Given the description of an element on the screen output the (x, y) to click on. 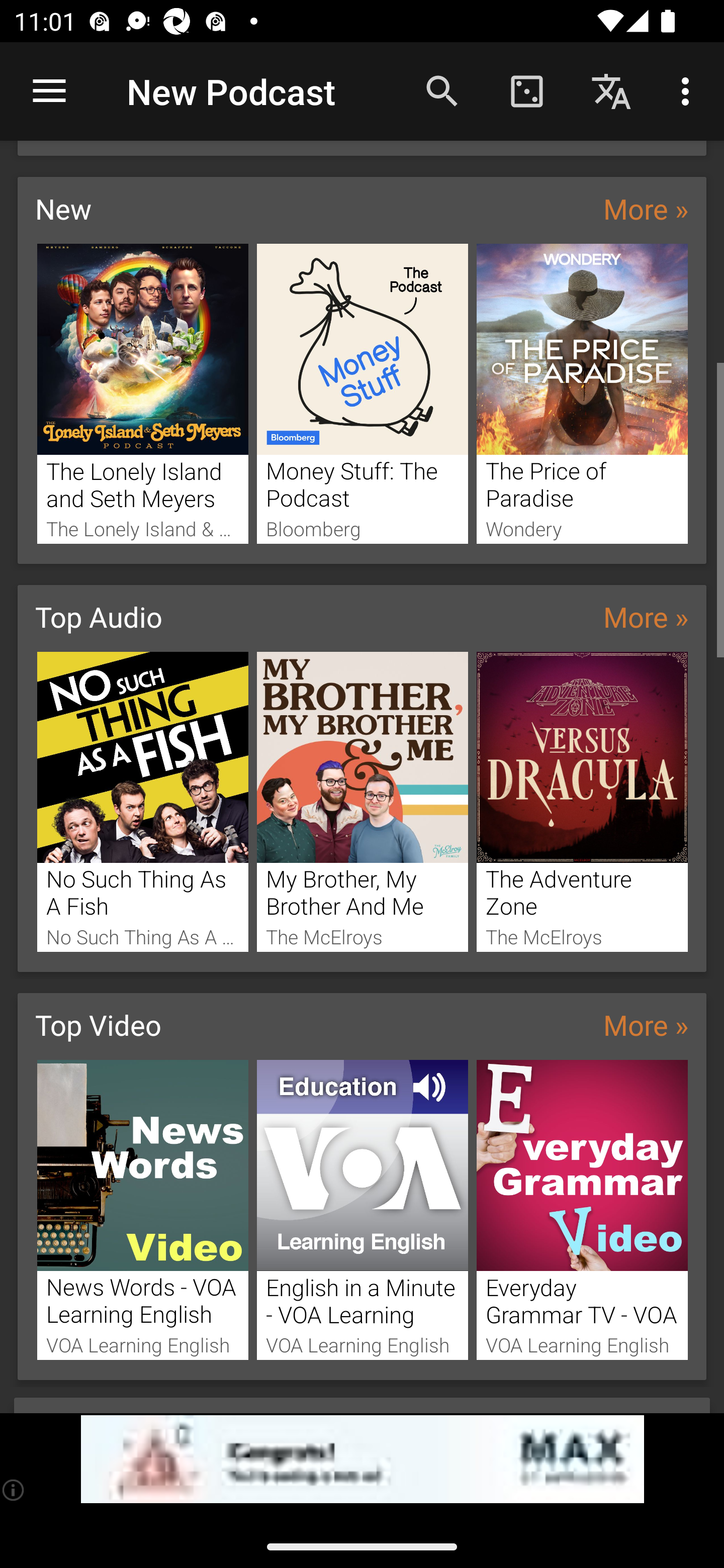
Open navigation sidebar (49, 91)
Search (442, 90)
Random pick (526, 90)
Podcast languages (611, 90)
More options (688, 90)
More » (645, 208)
Money Stuff: The Podcast Bloomberg (362, 393)
The Price of Paradise Wondery (581, 393)
More » (645, 616)
No Such Thing As A Fish (142, 801)
My Brother, My Brother And Me The McElroys (362, 801)
The Adventure Zone The McElroys (581, 801)
More » (645, 1024)
app-monetization (362, 1459)
(i) (14, 1489)
